Given the description of an element on the screen output the (x, y) to click on. 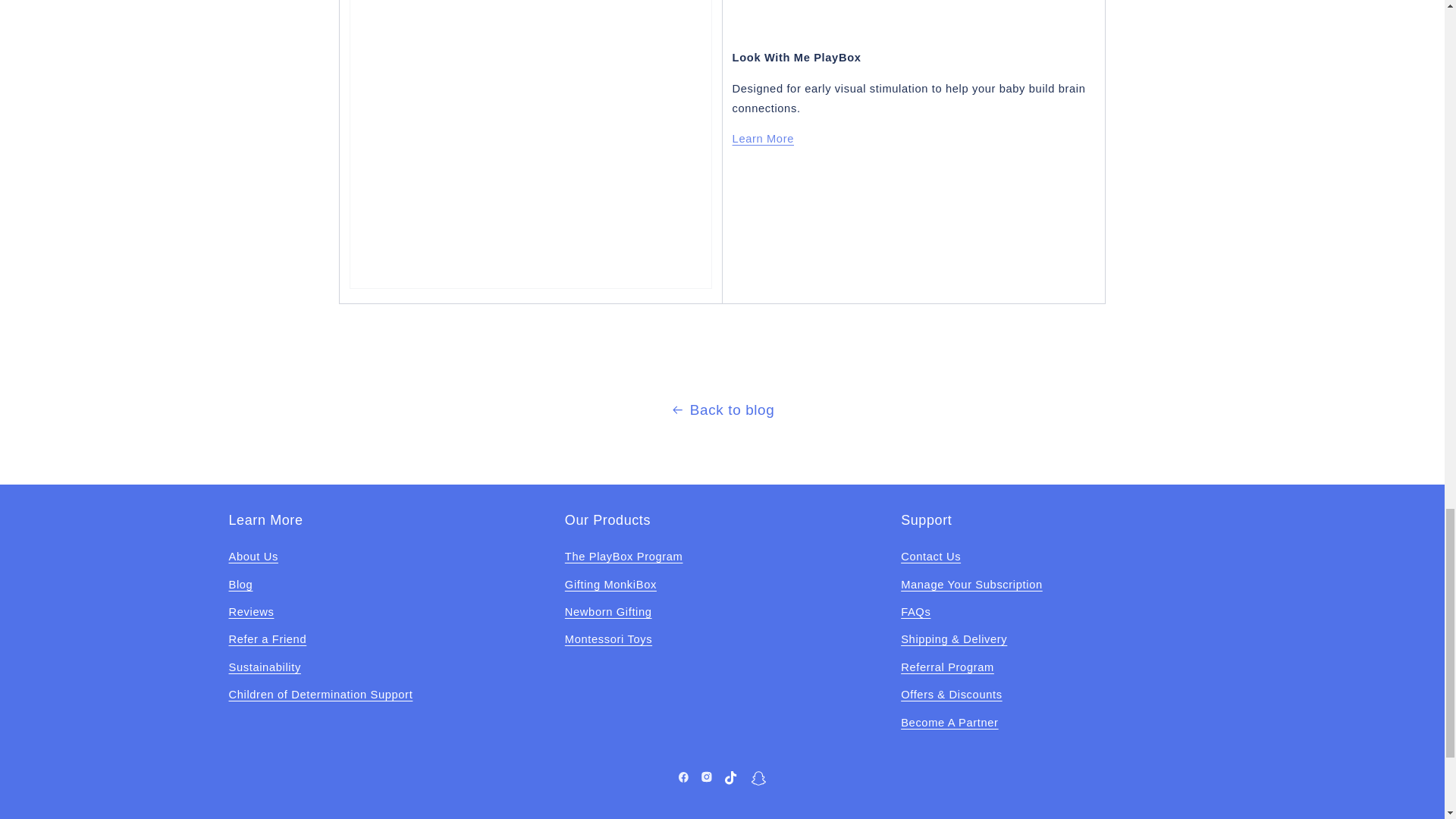
About Us (253, 558)
Learn More (762, 138)
